Given the description of an element on the screen output the (x, y) to click on. 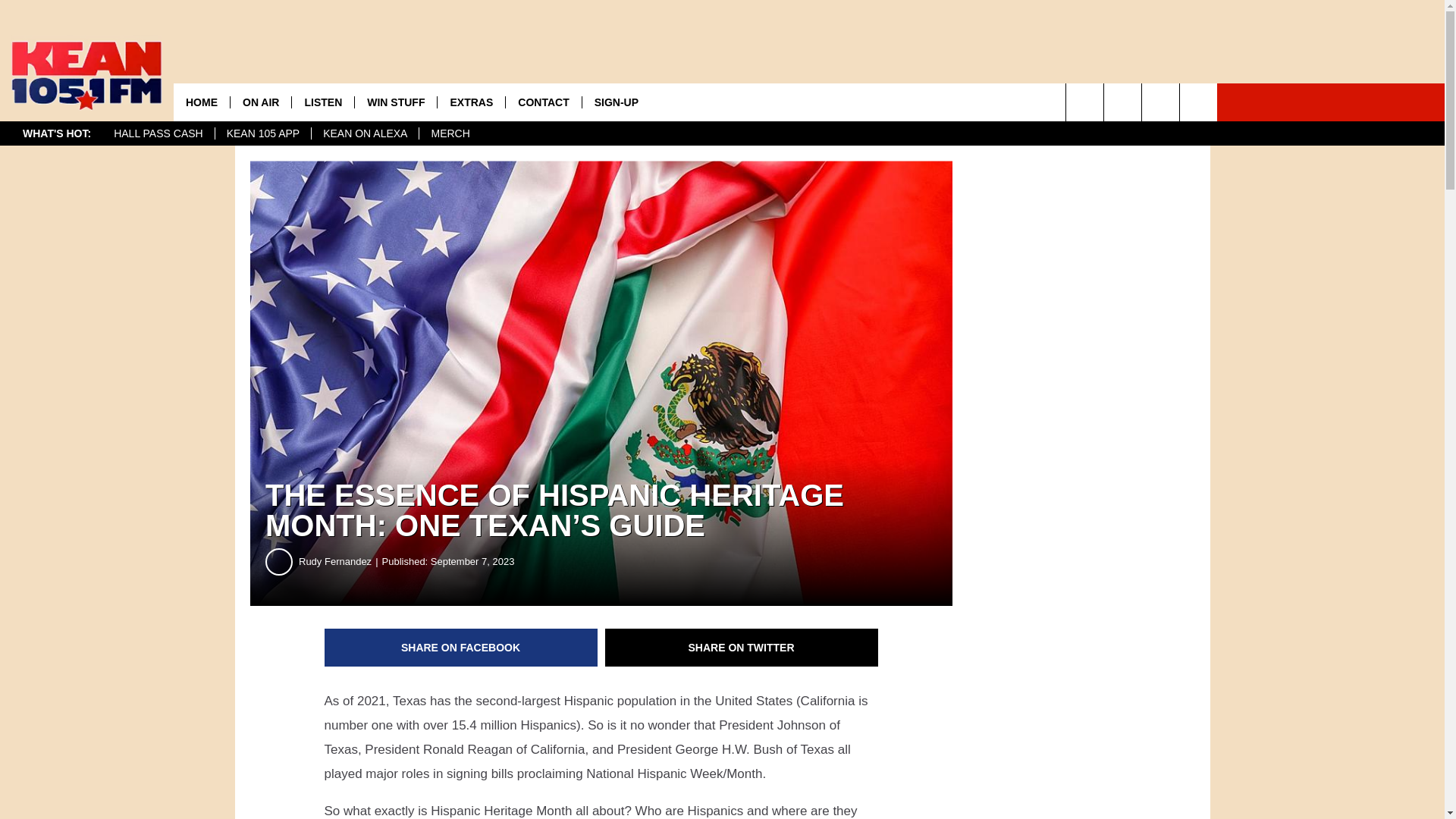
ON AIR (260, 102)
WIN STUFF (394, 102)
KEAN ON ALEXA (365, 133)
HALL PASS CASH (157, 133)
SIGN-UP (615, 102)
Share on Facebook (460, 647)
HOME (201, 102)
LISTEN (322, 102)
WHAT'S HOT: (56, 133)
EXTRAS (470, 102)
